Given the description of an element on the screen output the (x, y) to click on. 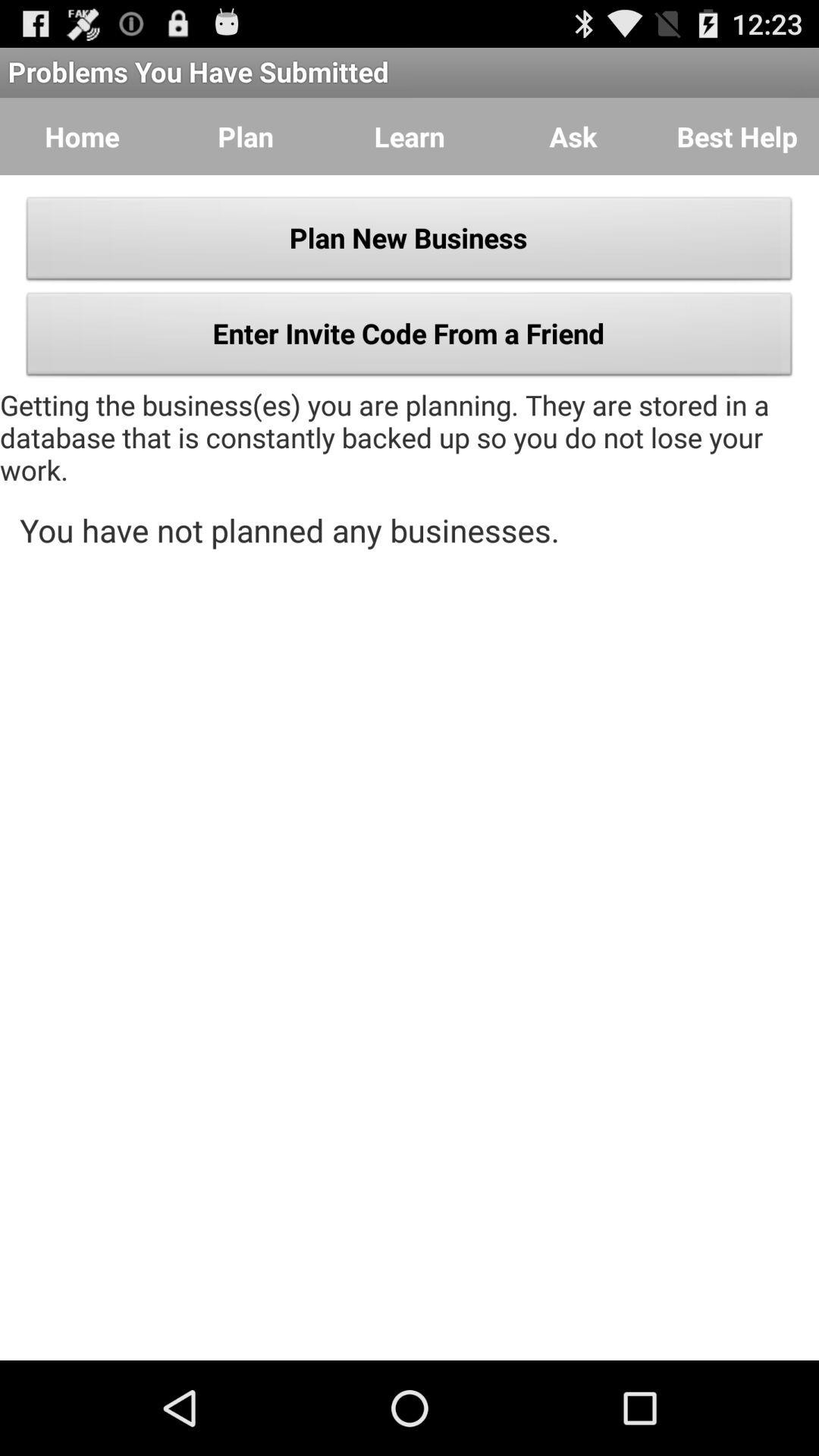
select icon below home item (409, 242)
